Given the description of an element on the screen output the (x, y) to click on. 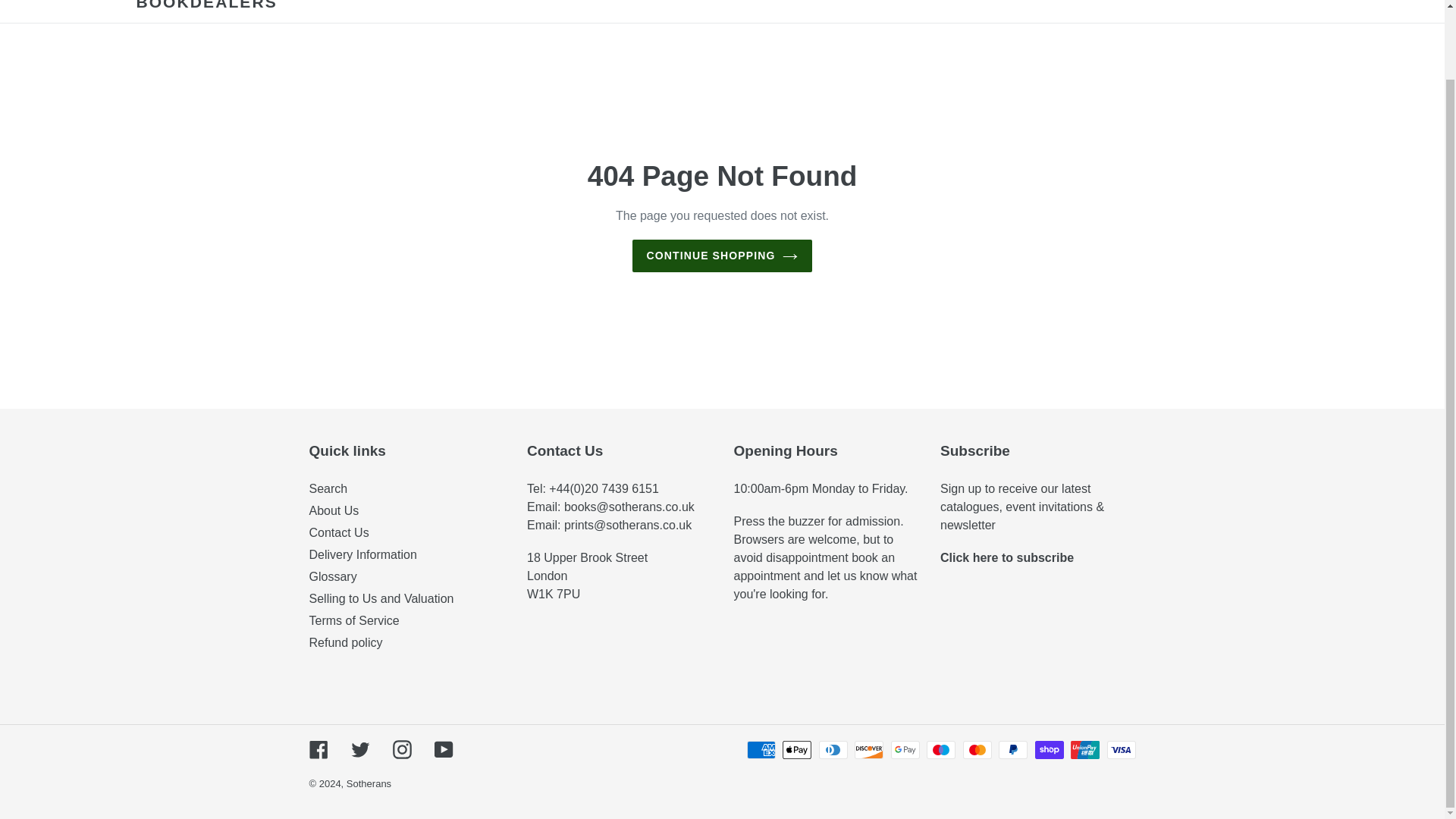
Subscribe (1007, 557)
